Given the description of an element on the screen output the (x, y) to click on. 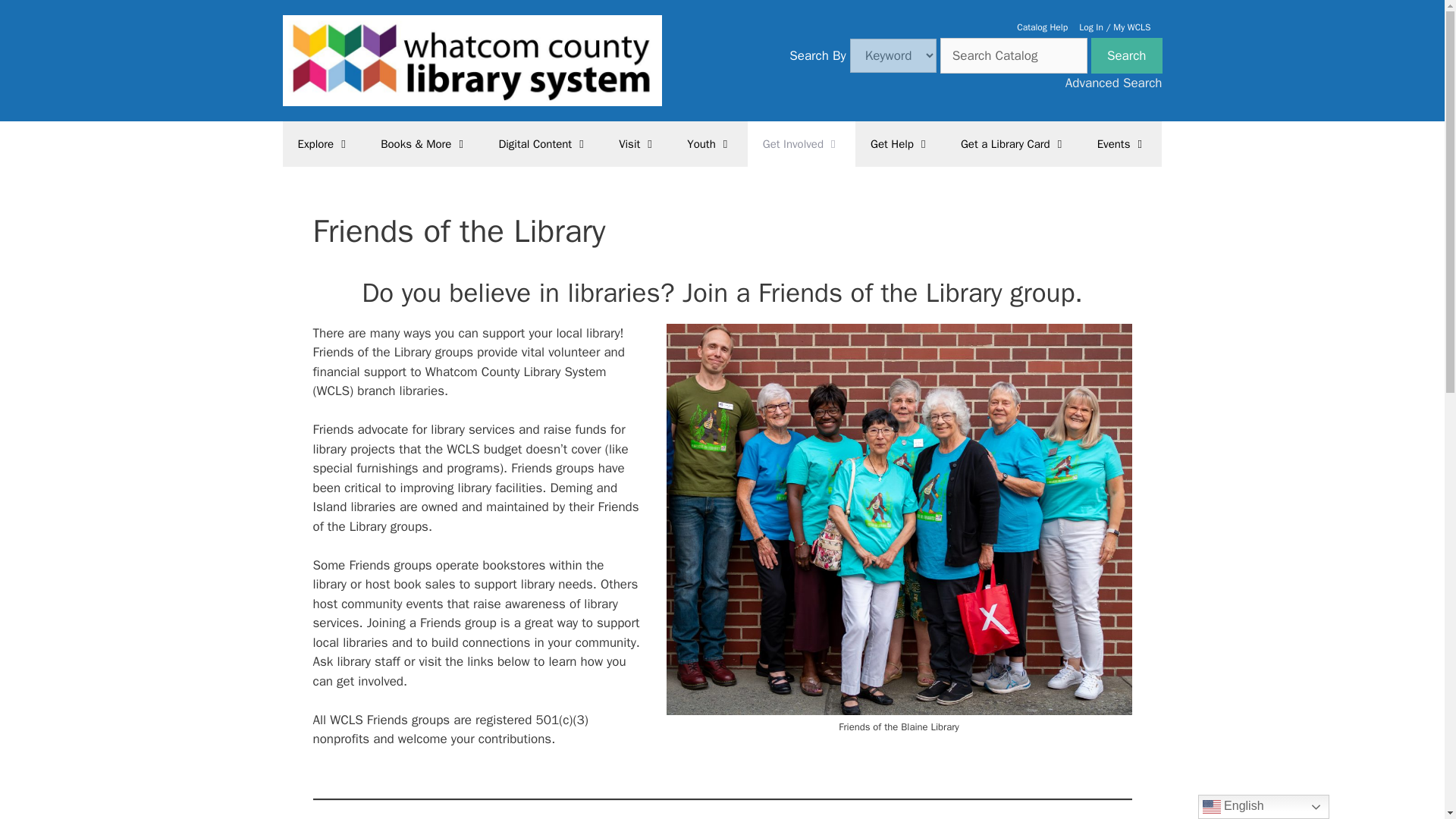
Search (1125, 55)
Search (1125, 55)
Explore (324, 144)
Advanced Search (1113, 82)
Catalog Help (1041, 27)
Youth (708, 144)
Digital Content (543, 144)
Visit (637, 144)
Search (1125, 55)
Search Catalog (1013, 55)
